Given the description of an element on the screen output the (x, y) to click on. 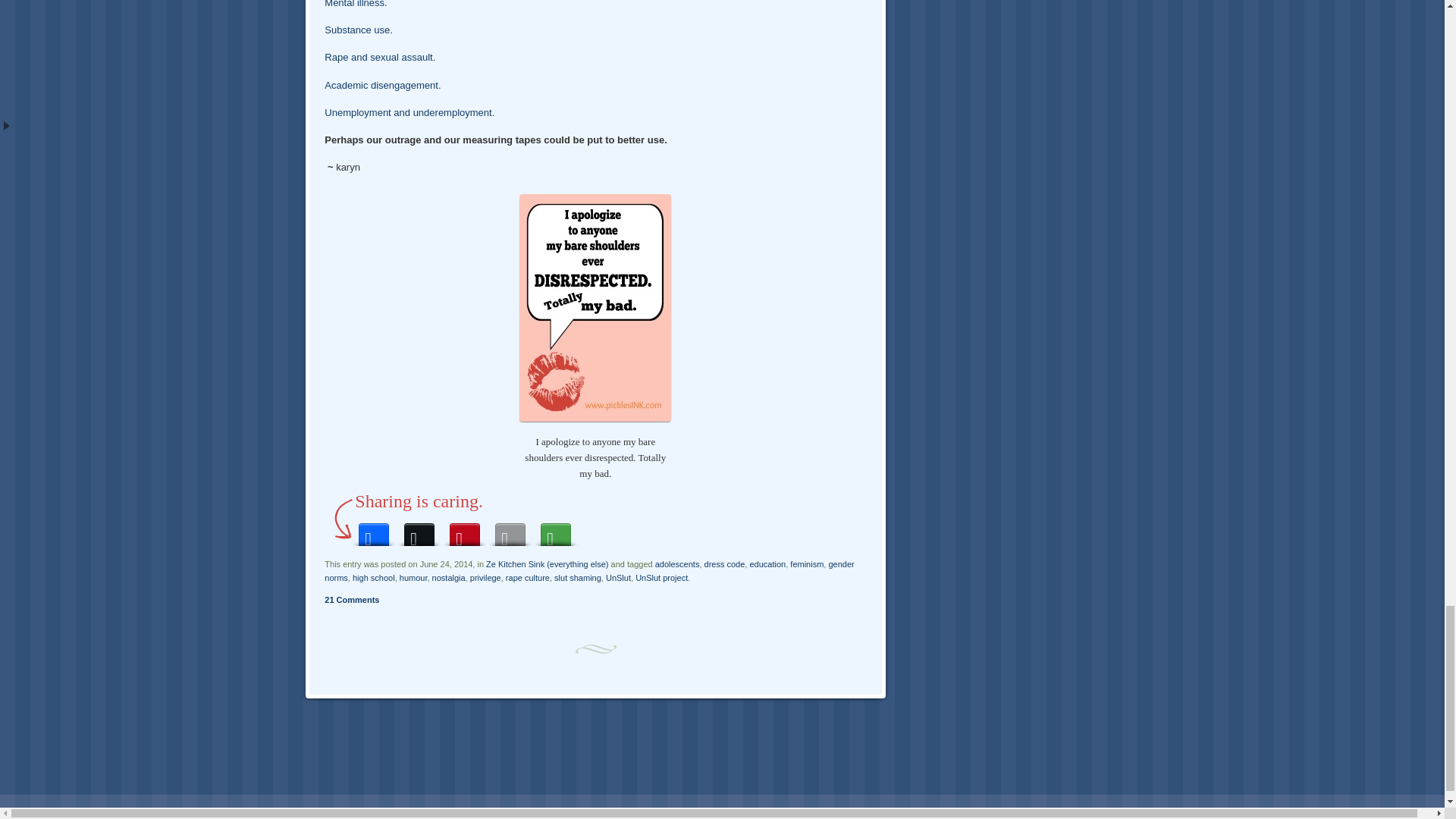
high school (373, 577)
education (767, 563)
Unemployment and underemployment. (409, 112)
Substance use. (358, 30)
Email This (509, 530)
dress code (724, 563)
privilege (485, 577)
Academic disengagement. (382, 84)
Rape and sexual assault. (379, 57)
humour (413, 577)
